Given the description of an element on the screen output the (x, y) to click on. 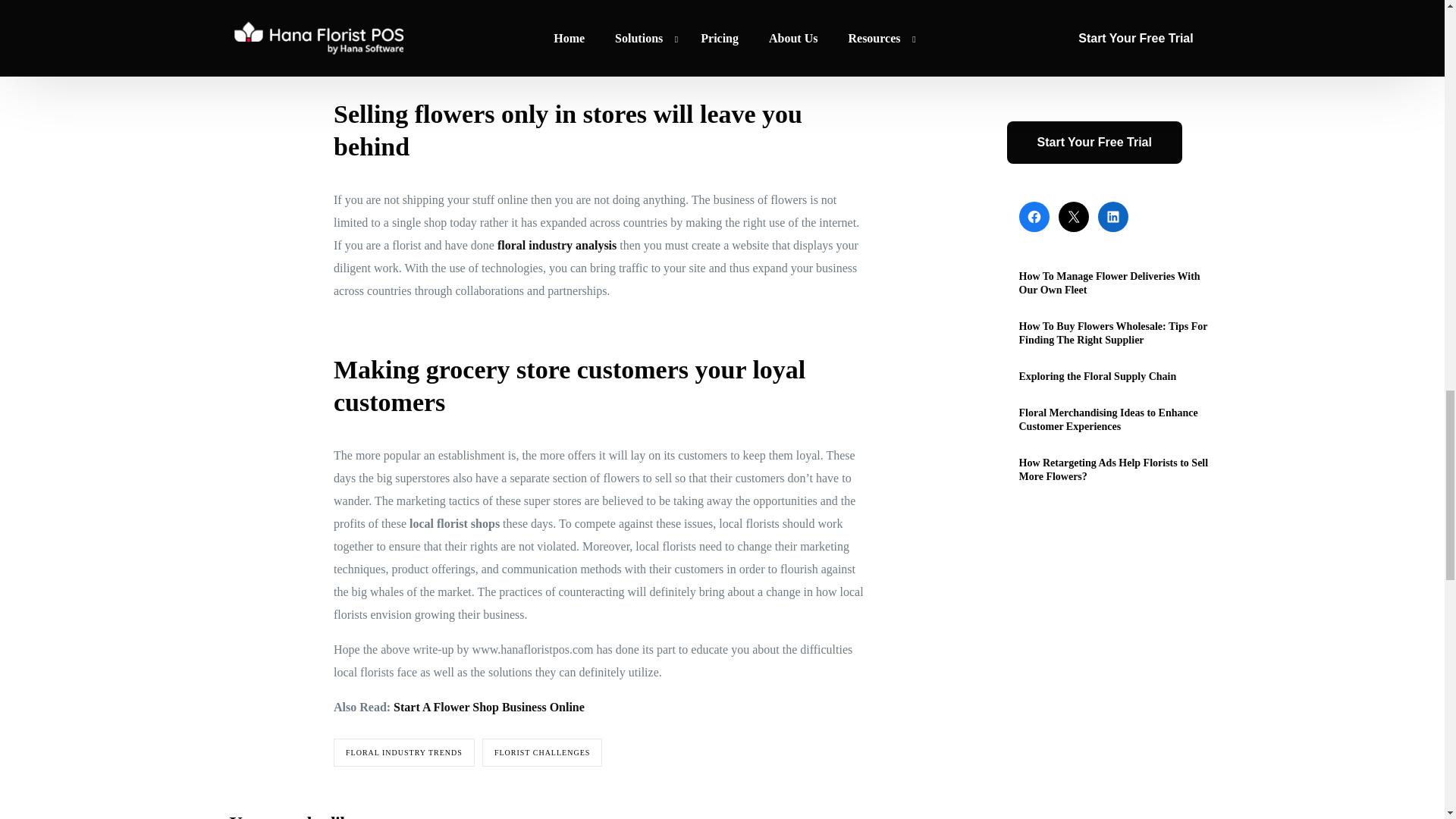
FLORAL INDUSTRY TRENDS (403, 752)
FLORIST CHALLENGES (541, 752)
floral industry analysis (556, 245)
Start A Flower Shop Business Online (489, 707)
